Given the description of an element on the screen output the (x, y) to click on. 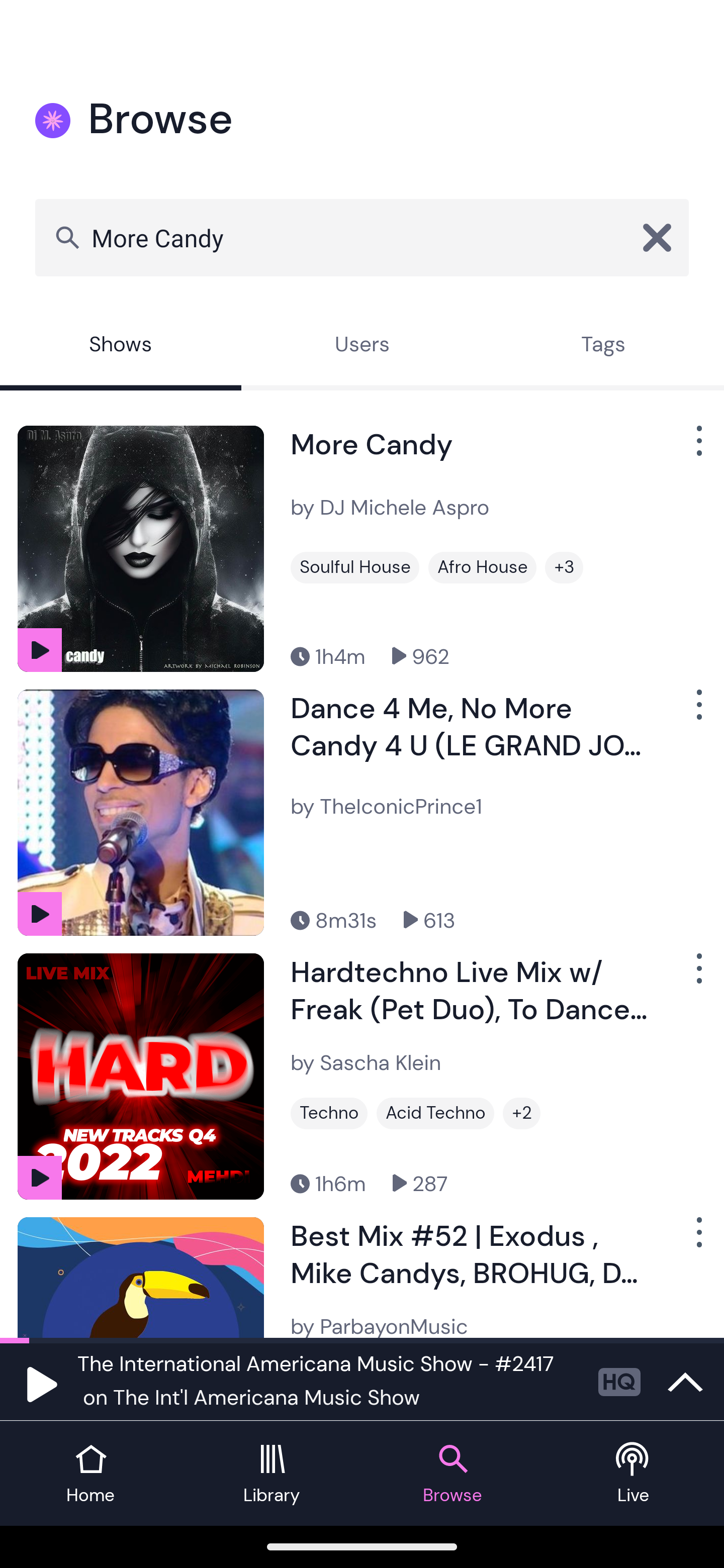
More Candy (361, 237)
Shows (120, 346)
Users (361, 346)
Tags (603, 346)
Show Options Menu Button (697, 447)
Soulful House (354, 567)
Afro House (482, 567)
Show Options Menu Button (697, 712)
Show Options Menu Button (697, 975)
Techno (328, 1112)
Acid Techno (435, 1112)
Show Options Menu Button (697, 1239)
Home tab Home (90, 1473)
Library tab Library (271, 1473)
Browse tab Browse (452, 1473)
Live tab Live (633, 1473)
